Given the description of an element on the screen output the (x, y) to click on. 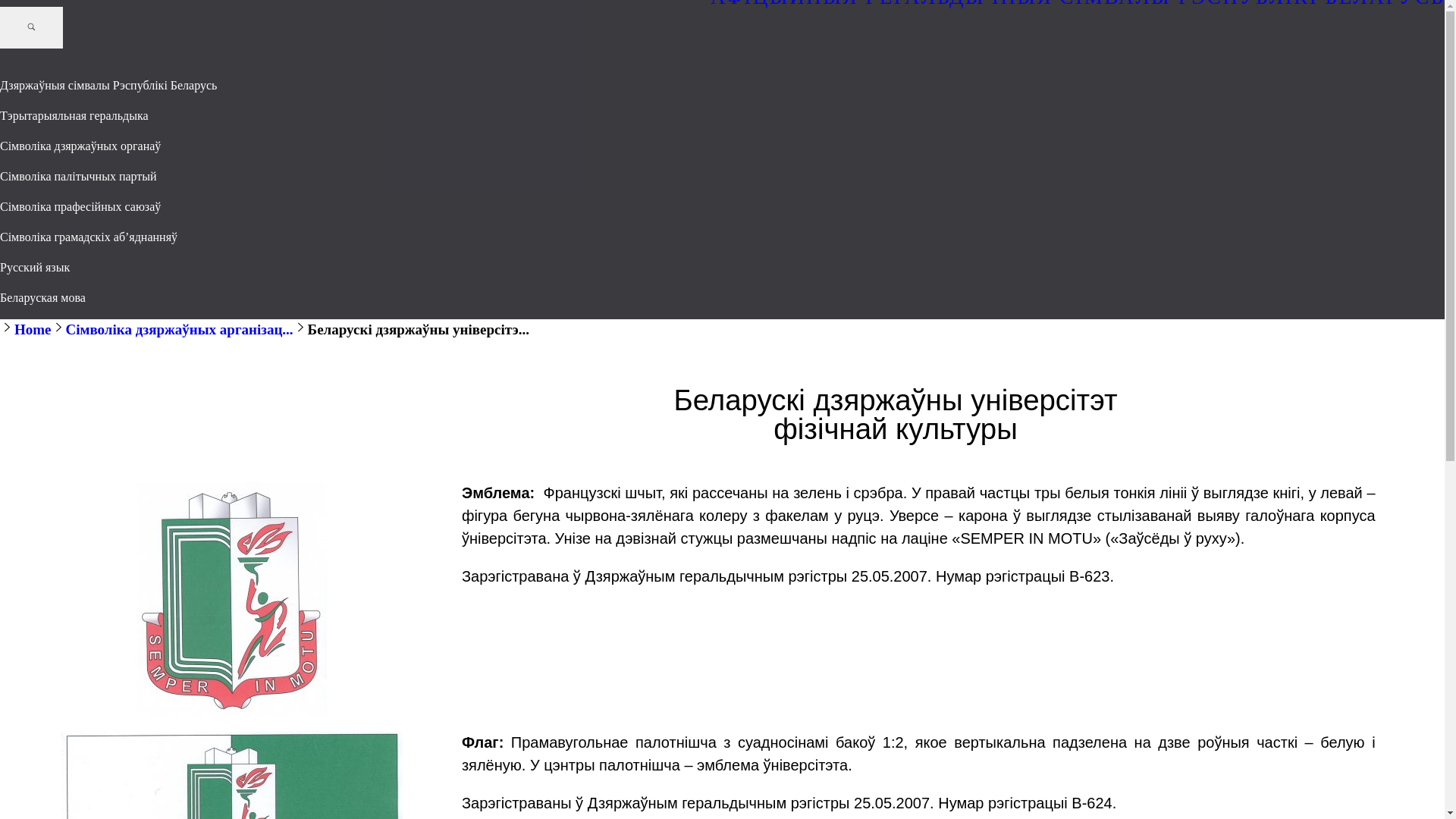
623 Element type: hover (231, 598)
Home Element type: text (32, 329)
